Given the description of an element on the screen output the (x, y) to click on. 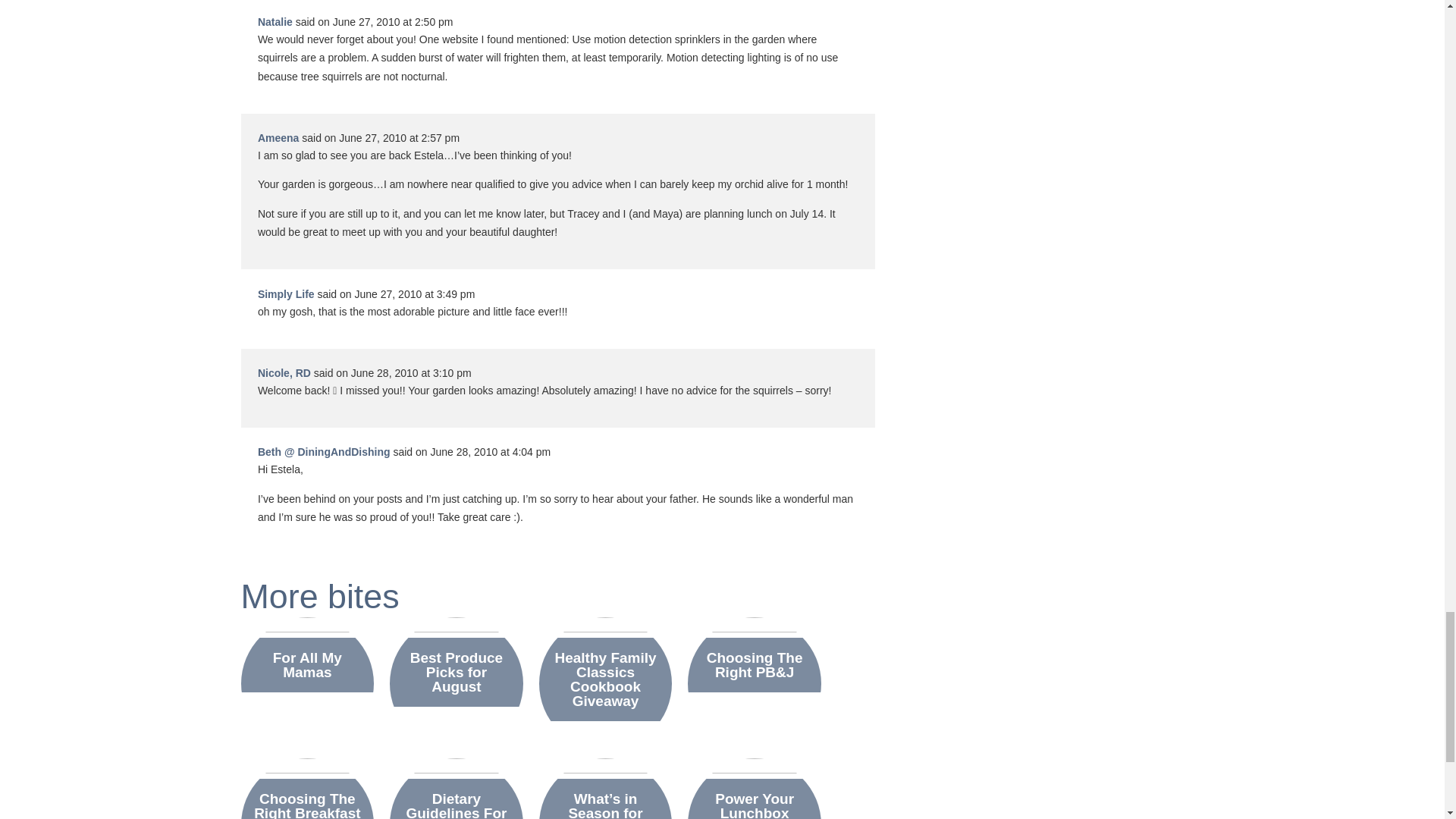
Simply Life (285, 294)
Ameena (277, 137)
Natalie (274, 21)
